Given the description of an element on the screen output the (x, y) to click on. 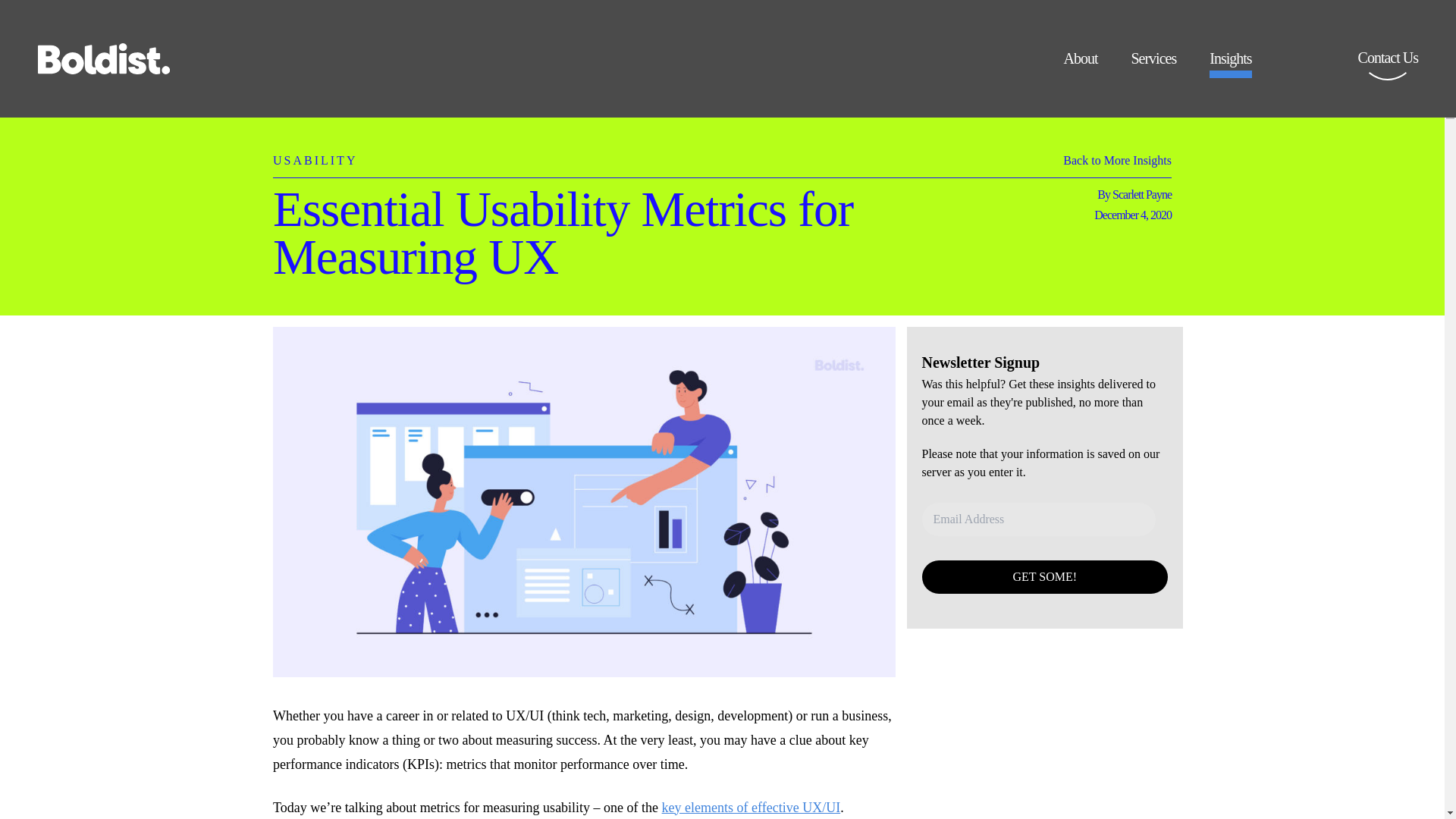
About (1079, 63)
GET SOME! (1045, 576)
Back to More Insights (1117, 164)
USABILITY (314, 152)
GET SOME! (1045, 576)
Scarlett Payne (1142, 194)
Posts by Scarlett Payne (1142, 194)
Insights (1229, 63)
Services (1153, 63)
Contact Us (1388, 68)
